Given the description of an element on the screen output the (x, y) to click on. 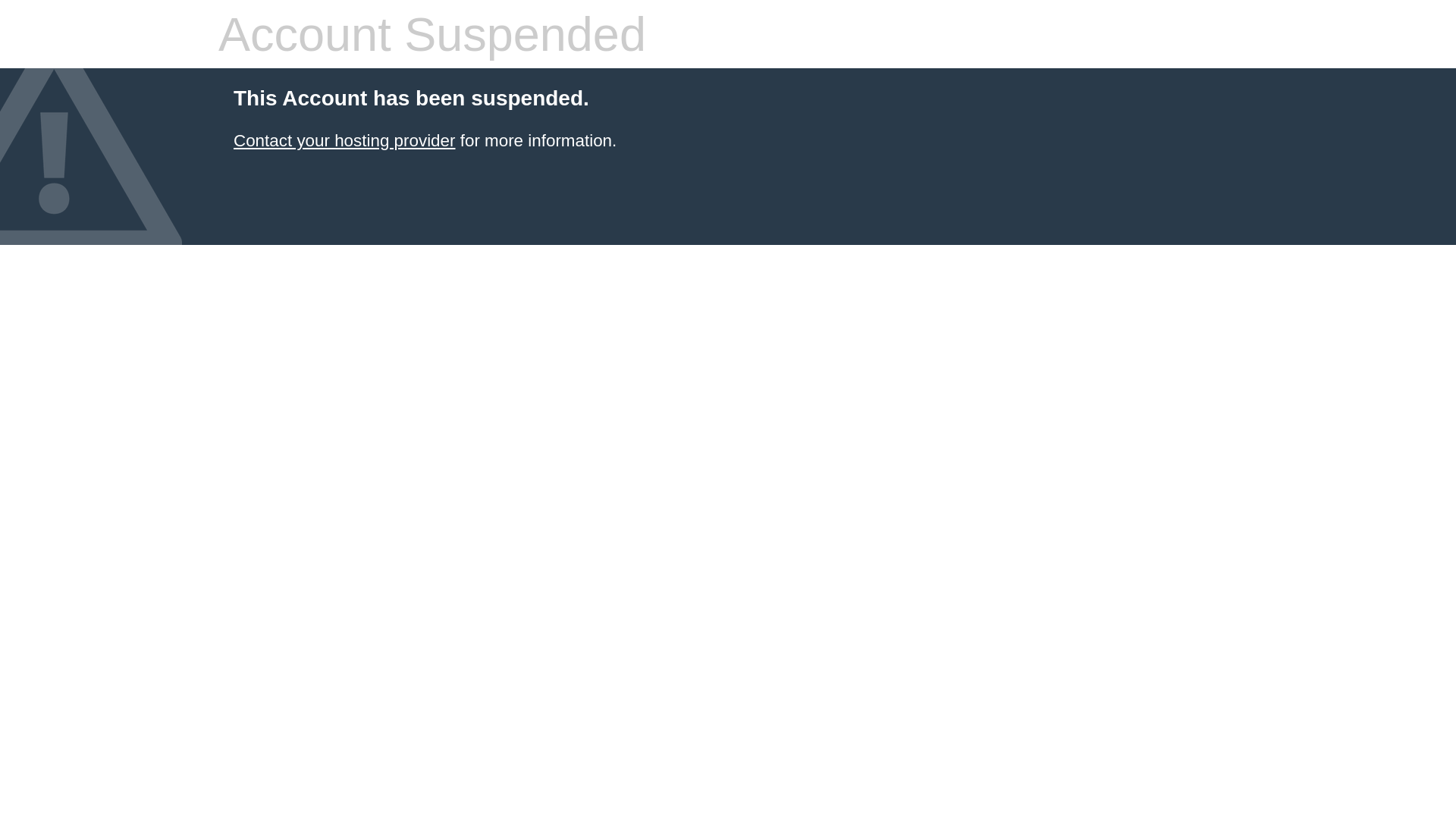
Contact your hosting provider Element type: text (344, 140)
